Given the description of an element on the screen output the (x, y) to click on. 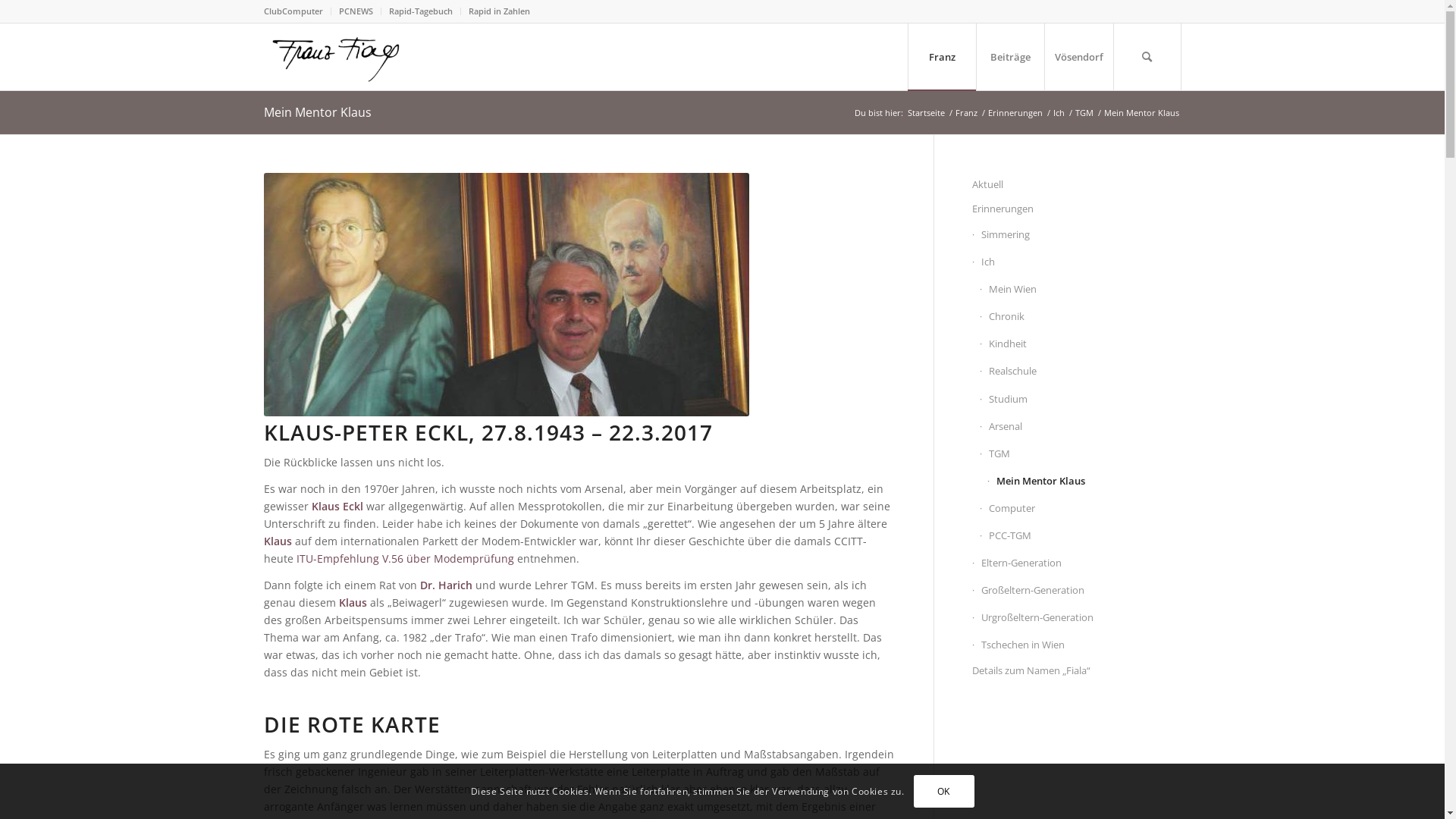
Tschechen in Wien Element type: text (1076, 644)
Rapid-Tagebuch Element type: text (419, 10)
Arsenal Element type: text (1080, 426)
Erinnerungen Element type: text (1076, 209)
Aktuell Element type: text (1076, 184)
Kindheit Element type: text (1080, 343)
Franz Element type: text (965, 112)
Mein Wien Element type: text (1080, 289)
Eltern-Generation Element type: text (1076, 563)
ClubComputer Element type: text (293, 10)
Rapid in Zahlen Element type: text (499, 10)
Ich Element type: text (1076, 262)
Simmering Element type: text (1076, 234)
Mein Mentor Klaus Element type: text (317, 111)
Computer Element type: text (1080, 508)
Mein Mentor Klaus Element type: text (1084, 481)
TGM Element type: text (1083, 112)
Chronik Element type: text (1080, 316)
Erinnerungen Element type: text (1014, 112)
PCNEWS Element type: text (355, 10)
OK Element type: text (943, 790)
TGM Element type: text (1080, 453)
Realschule Element type: text (1080, 371)
PCC-TGM Element type: text (1080, 535)
Ich Element type: text (1058, 112)
Studium Element type: text (1080, 399)
Startseite Element type: text (926, 112)
Franz Element type: text (940, 56)
